Given the description of an element on the screen output the (x, y) to click on. 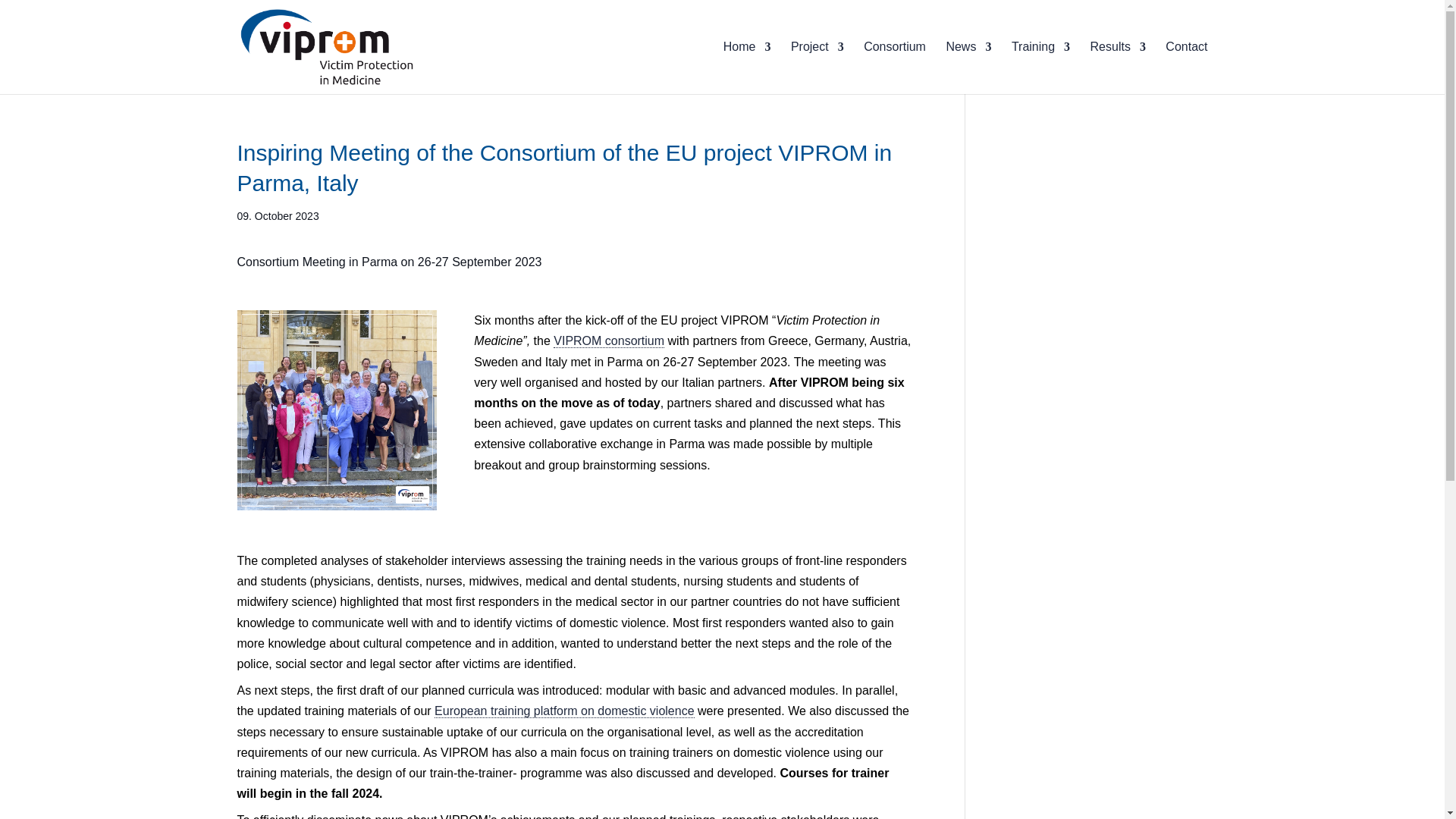
Consortium (894, 67)
Results (1117, 67)
Home (747, 67)
Training (1040, 67)
Project (817, 67)
